Given the description of an element on the screen output the (x, y) to click on. 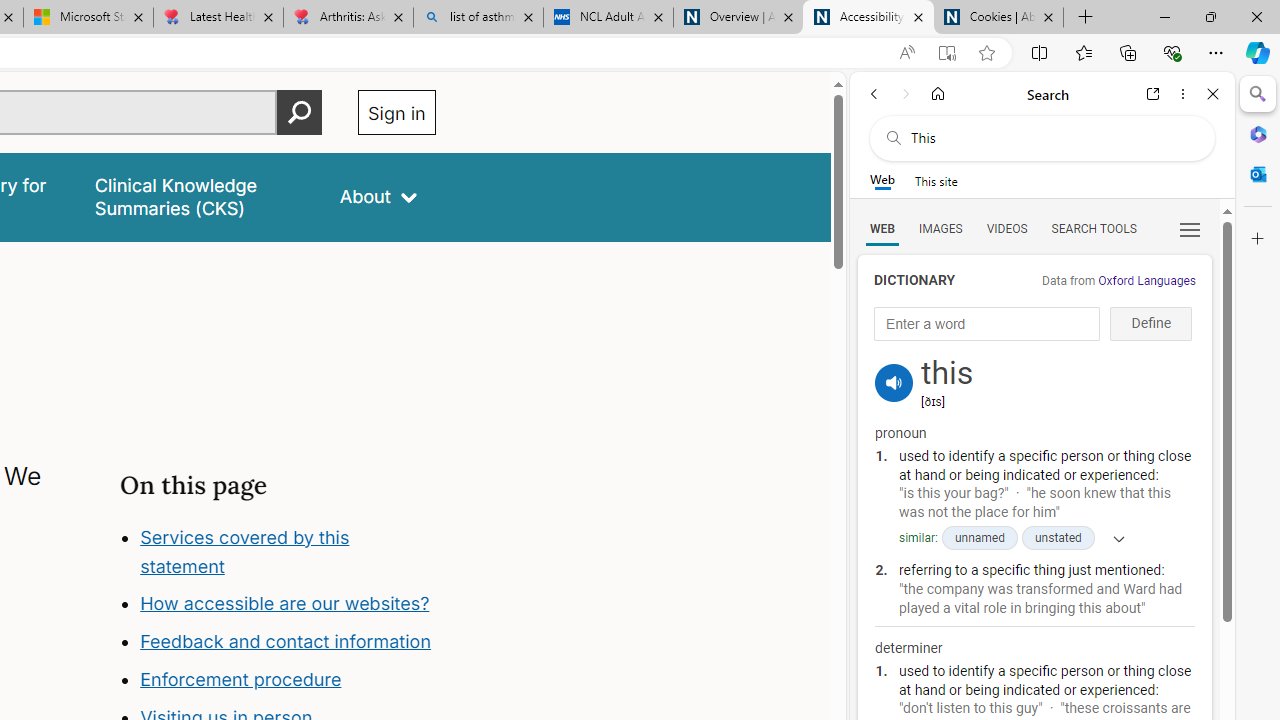
Enter a word (987, 323)
Cookies | About | NICE (998, 17)
Accessibility | NICE (868, 17)
